Given the description of an element on the screen output the (x, y) to click on. 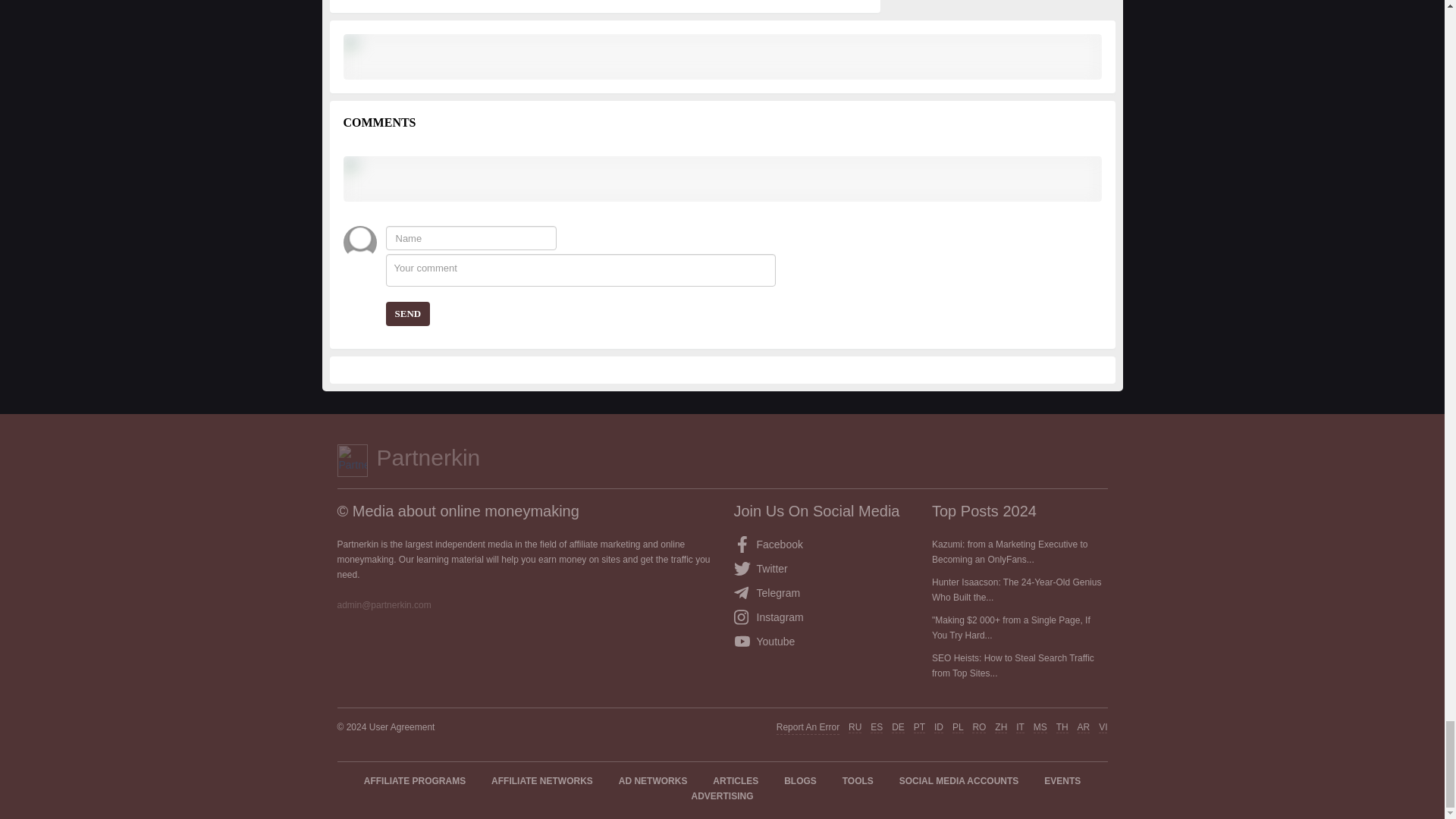
Send (407, 313)
